Given the description of an element on the screen output the (x, y) to click on. 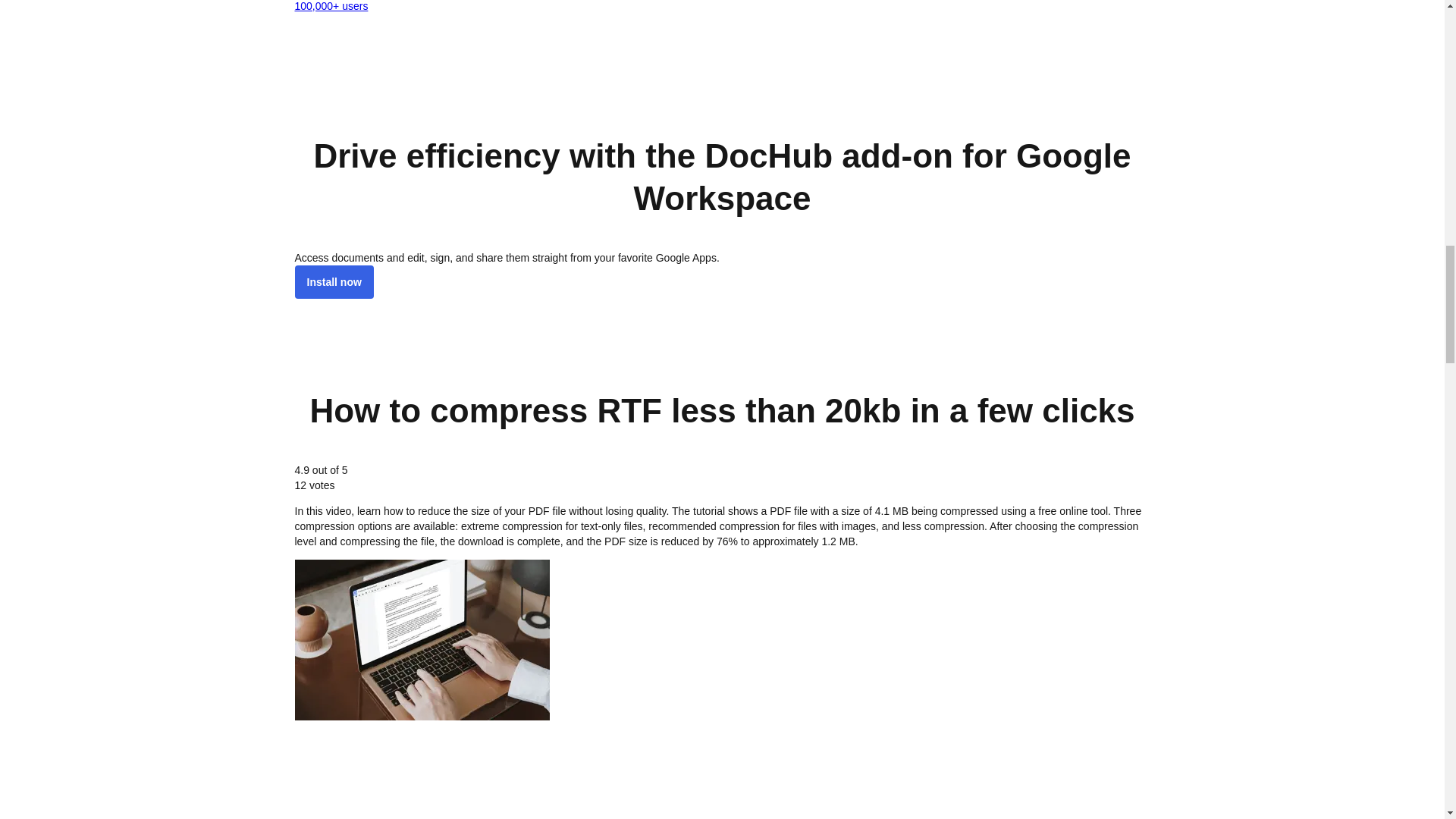
Install now (333, 281)
